Given the description of an element on the screen output the (x, y) to click on. 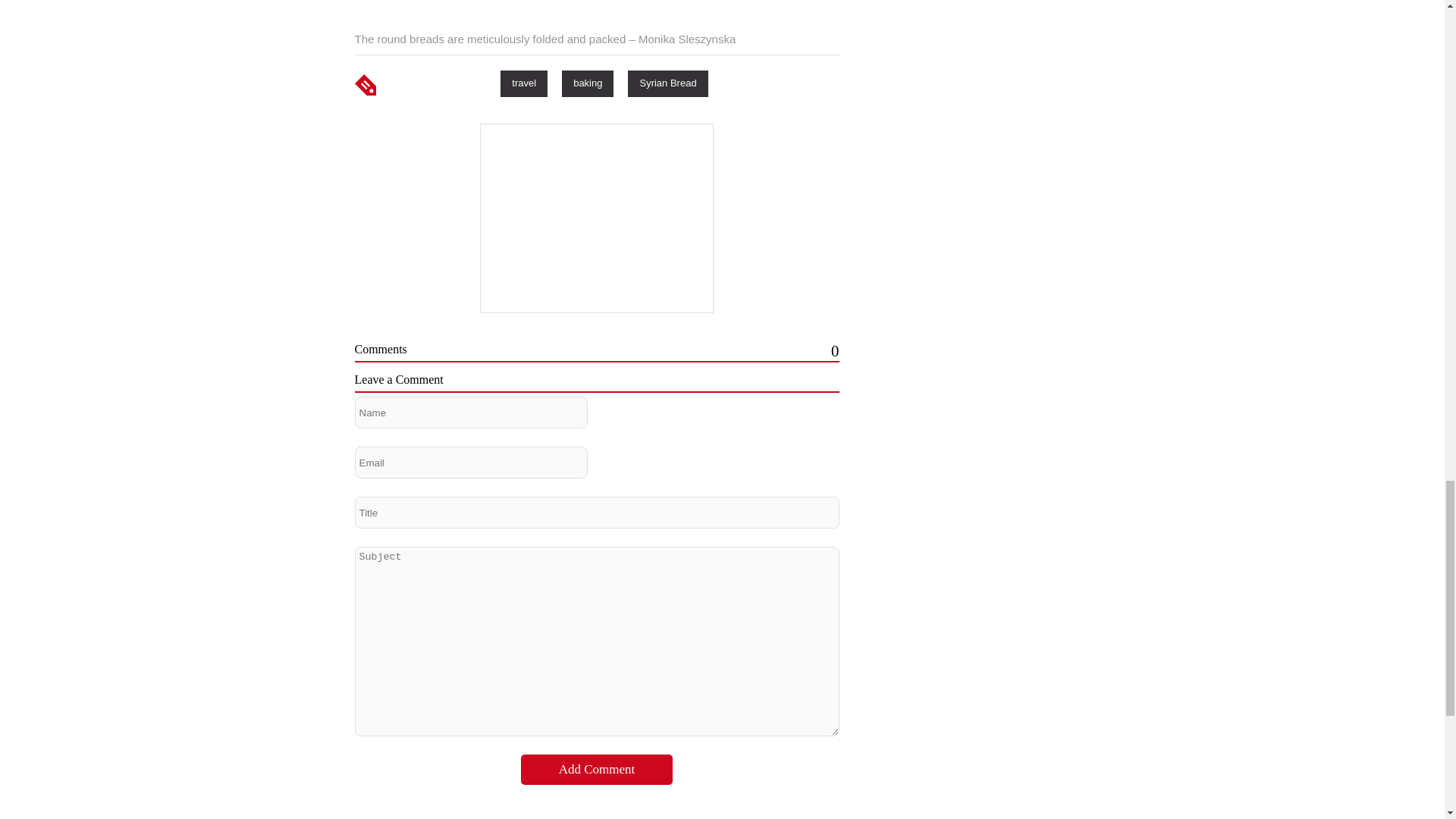
baking (587, 82)
travel (523, 82)
Syrian Bread (667, 82)
Add Comment (596, 769)
